Given the description of an element on the screen output the (x, y) to click on. 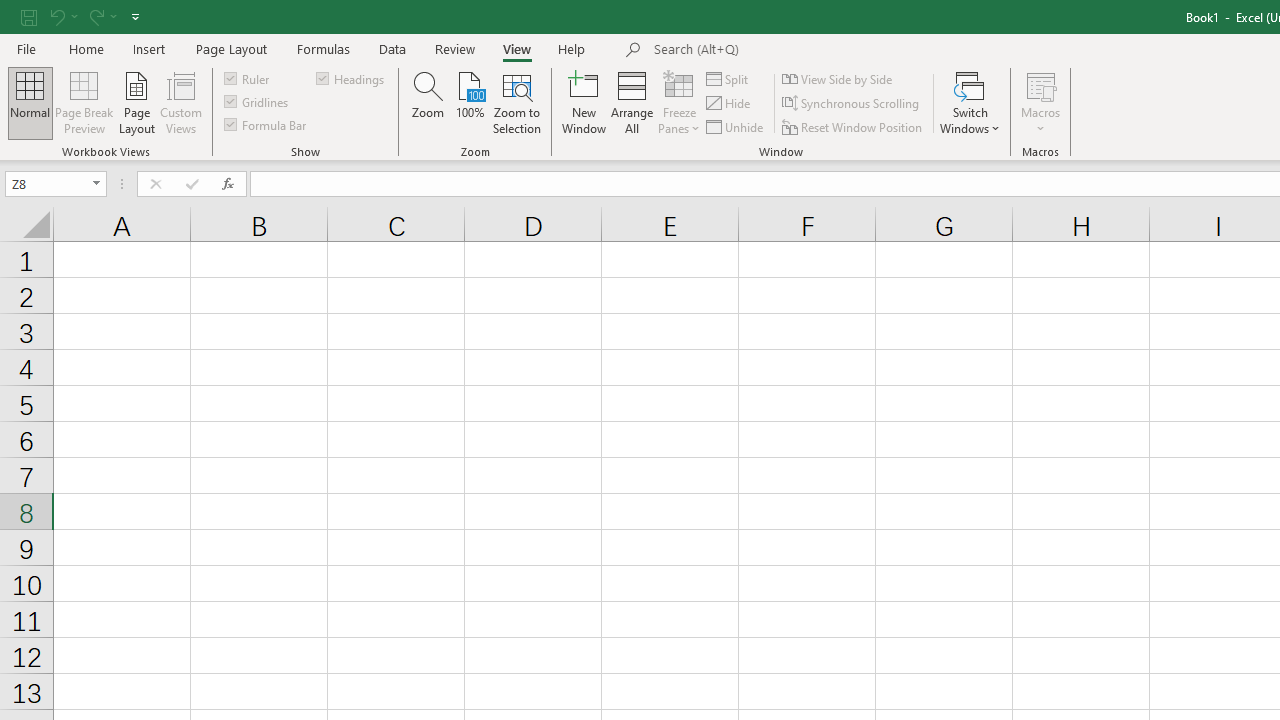
Freeze Panes (678, 102)
New Window (584, 102)
